Given the description of an element on the screen output the (x, y) to click on. 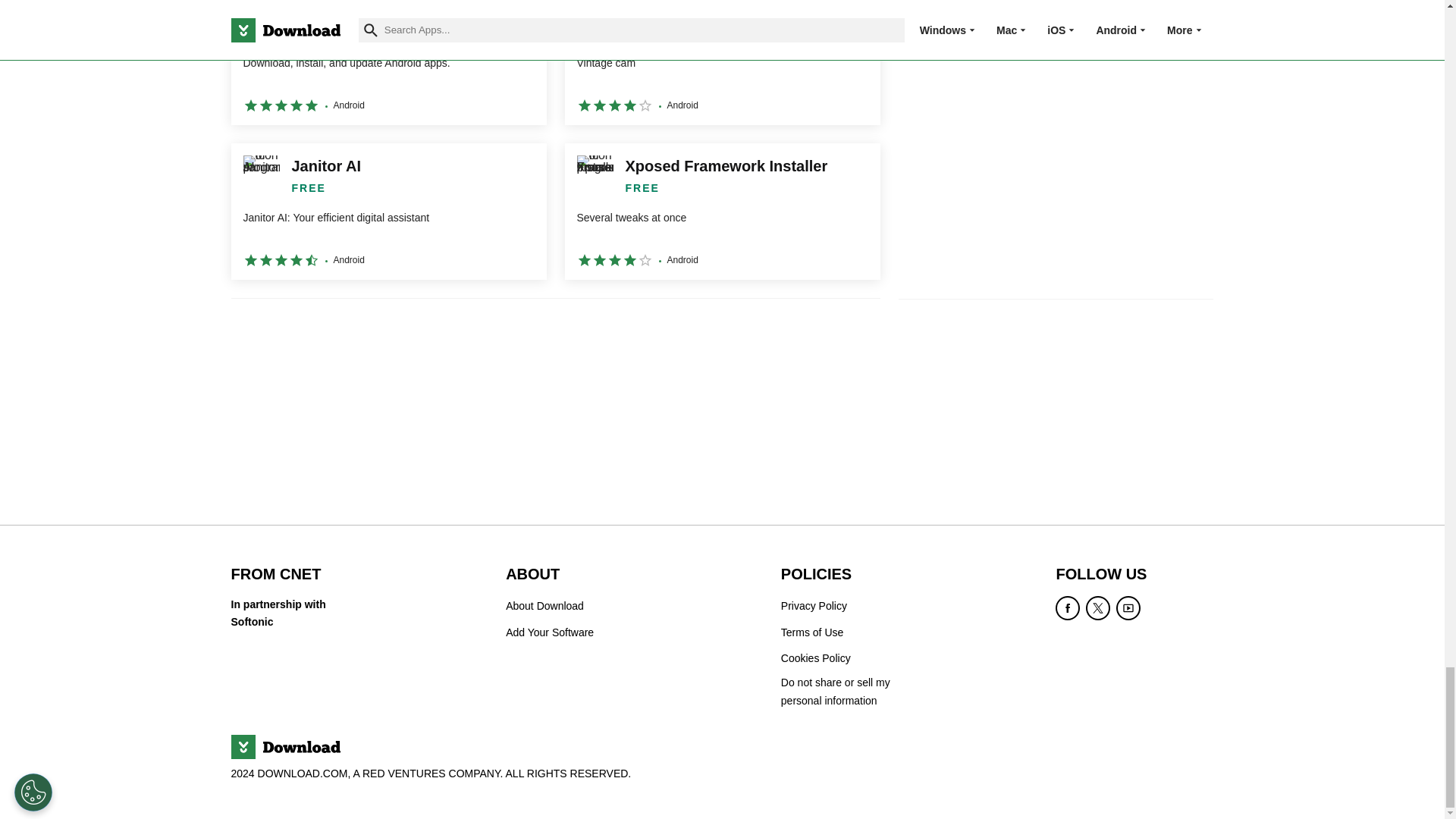
Xposed Framework Installer (721, 211)
Download.com (284, 746)
Become a Facebook fan of Download.com (1067, 607)
Janitor AI (388, 211)
Dazz Cam - Vintage Camera (721, 62)
APKPure (388, 62)
